Given the description of an element on the screen output the (x, y) to click on. 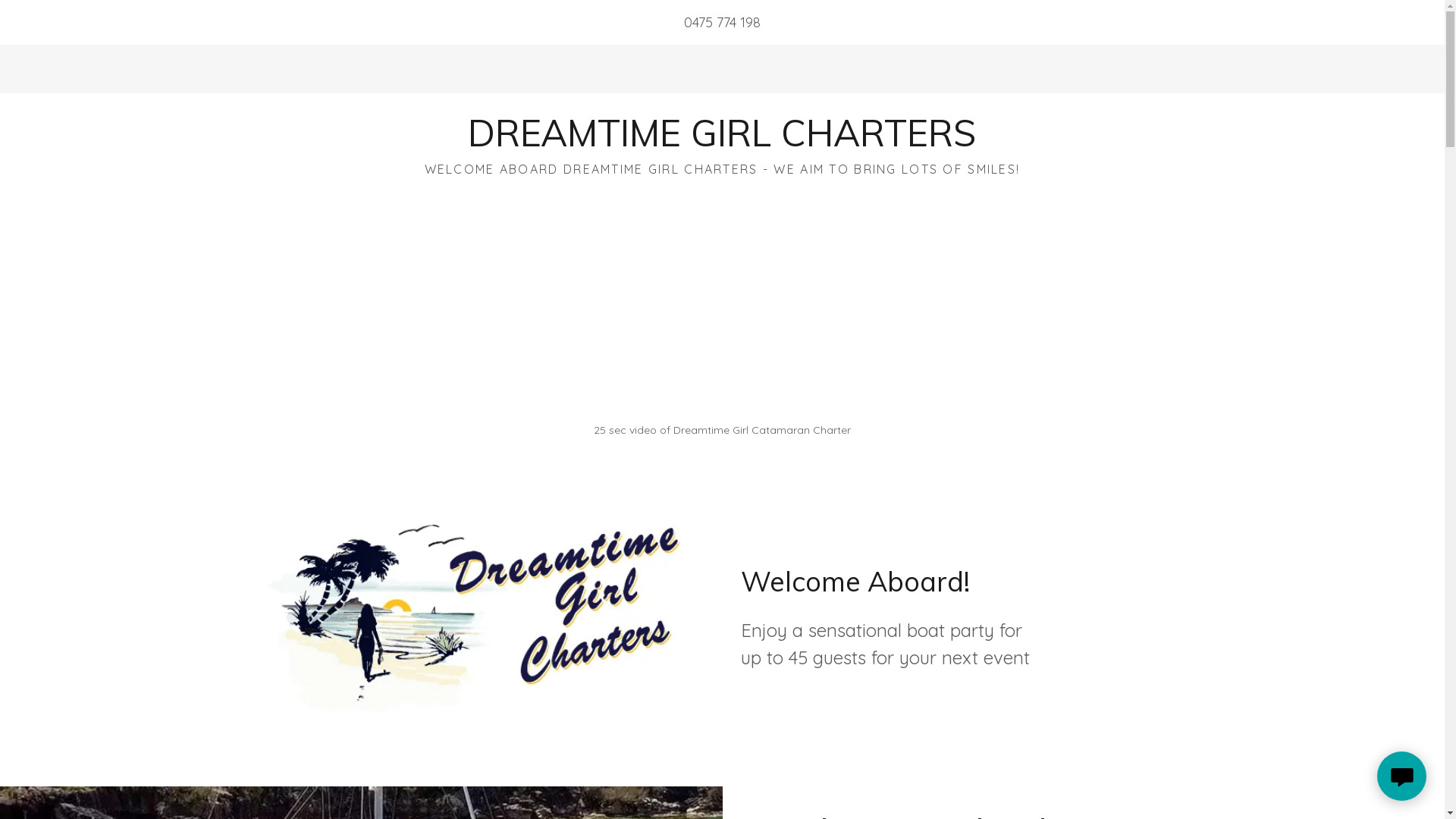
DREAMTIME GIRL CHARTERS Element type: text (721, 141)
0475 774 198 Element type: text (722, 22)
